Given the description of an element on the screen output the (x, y) to click on. 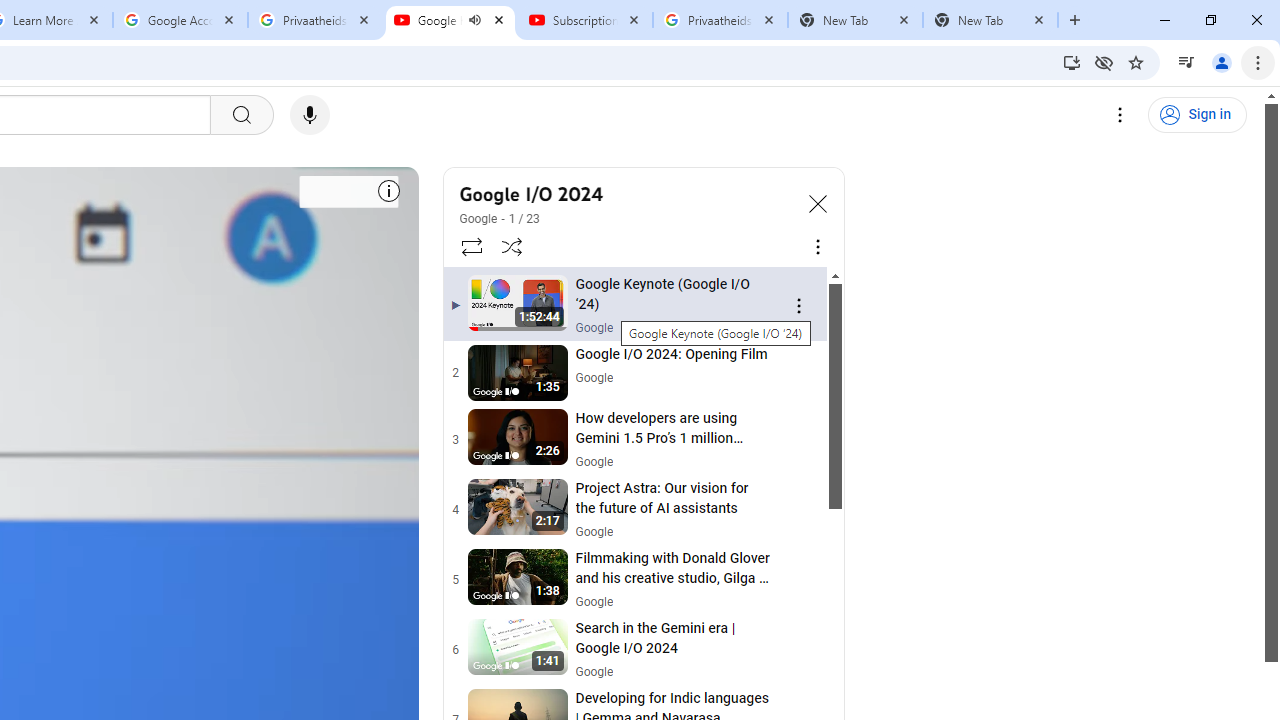
New Tab (990, 20)
Shuffle playlist (511, 246)
Google Account (180, 20)
Loop playlist (470, 246)
Google I/O 2024 (625, 194)
